Given the description of an element on the screen output the (x, y) to click on. 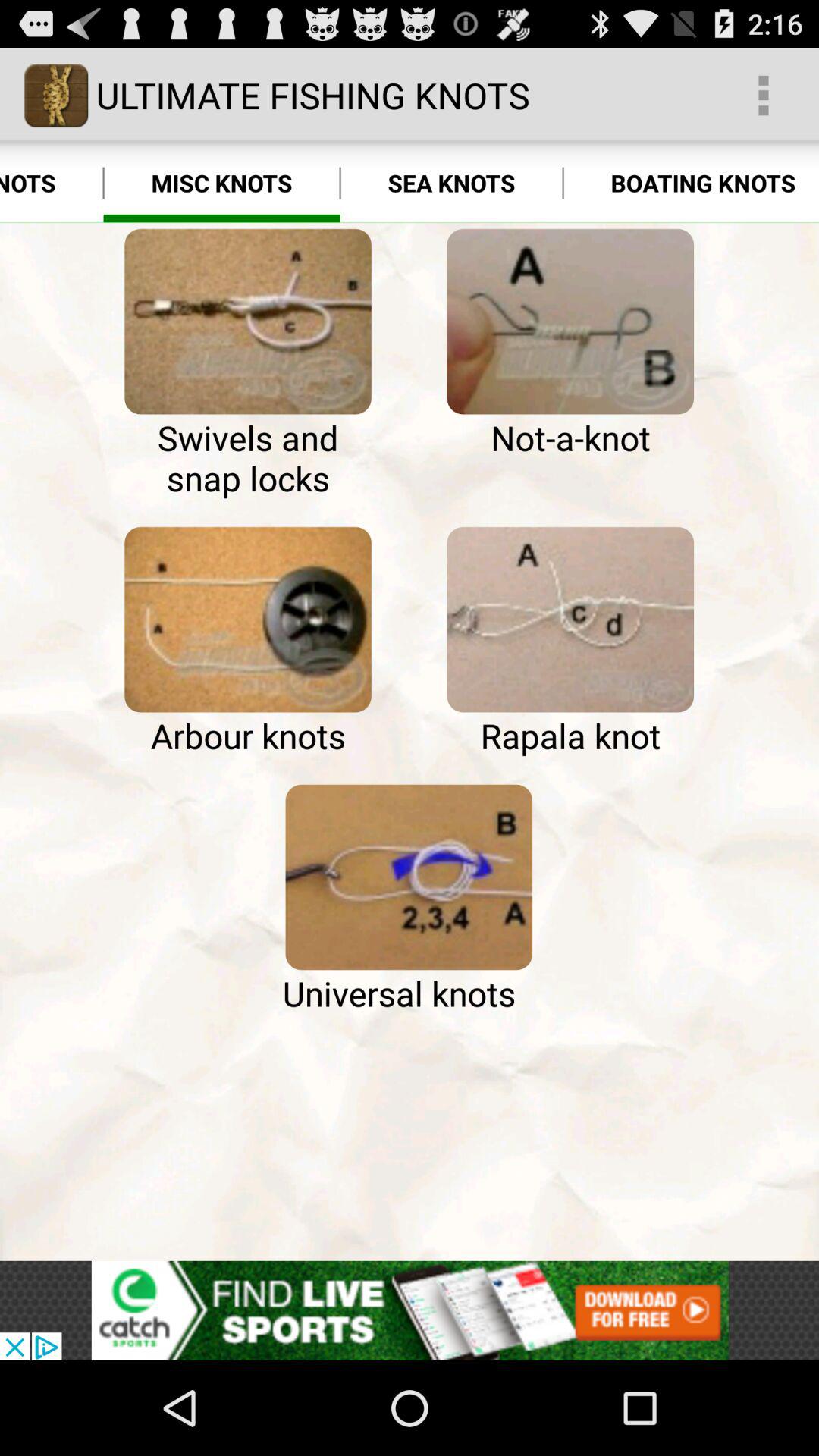
image open option (570, 619)
